Given the description of an element on the screen output the (x, y) to click on. 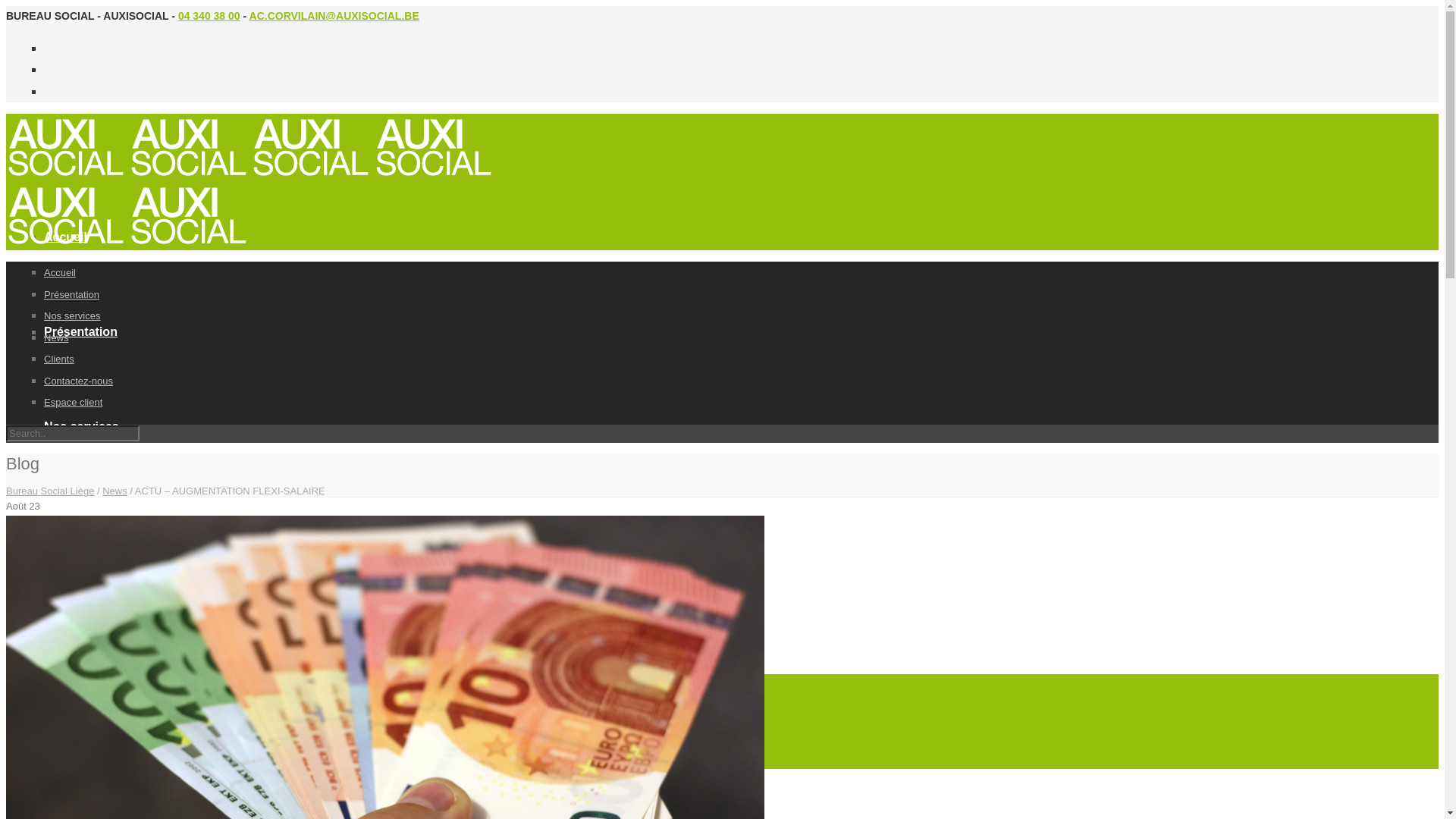
Espace client Element type: text (72, 401)
Contactez-nous Element type: text (88, 710)
AC.CORVILAIN@AUXISOCIAL.BE Element type: text (334, 15)
Accueil Element type: text (65, 236)
Nos services Element type: text (71, 315)
Accueil Element type: text (59, 272)
Espace client Element type: text (82, 805)
Clients Element type: text (63, 615)
News Element type: text (59, 520)
Clients Element type: text (58, 358)
News Element type: text (114, 490)
04 340 38 00 Element type: text (209, 15)
Nos services Element type: text (81, 426)
News Element type: text (56, 337)
Contactez-nous Element type: text (77, 380)
